Given the description of an element on the screen output the (x, y) to click on. 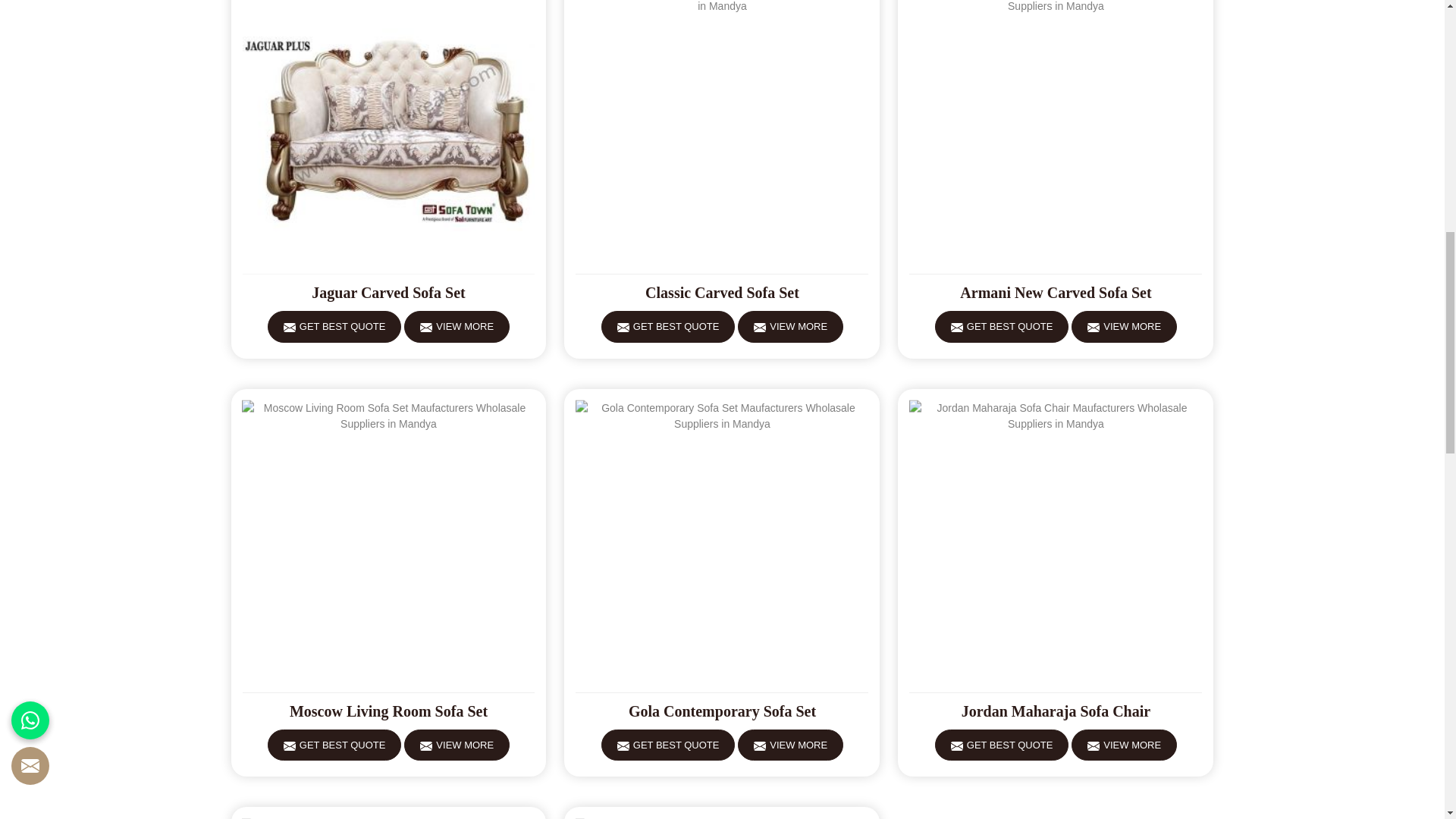
GET BEST QUOTE (1001, 327)
Gola Contemporary Sofa Set (721, 710)
Jaguar Carved Sofa Set (389, 292)
GET BEST QUOTE (334, 745)
VIEW MORE (1123, 327)
GET BEST QUOTE (668, 745)
GET BEST QUOTE (668, 327)
Armani New Carved Sofa Set (1055, 292)
Moscow Living Room Sofa Set (389, 710)
VIEW MORE (456, 327)
